Given the description of an element on the screen output the (x, y) to click on. 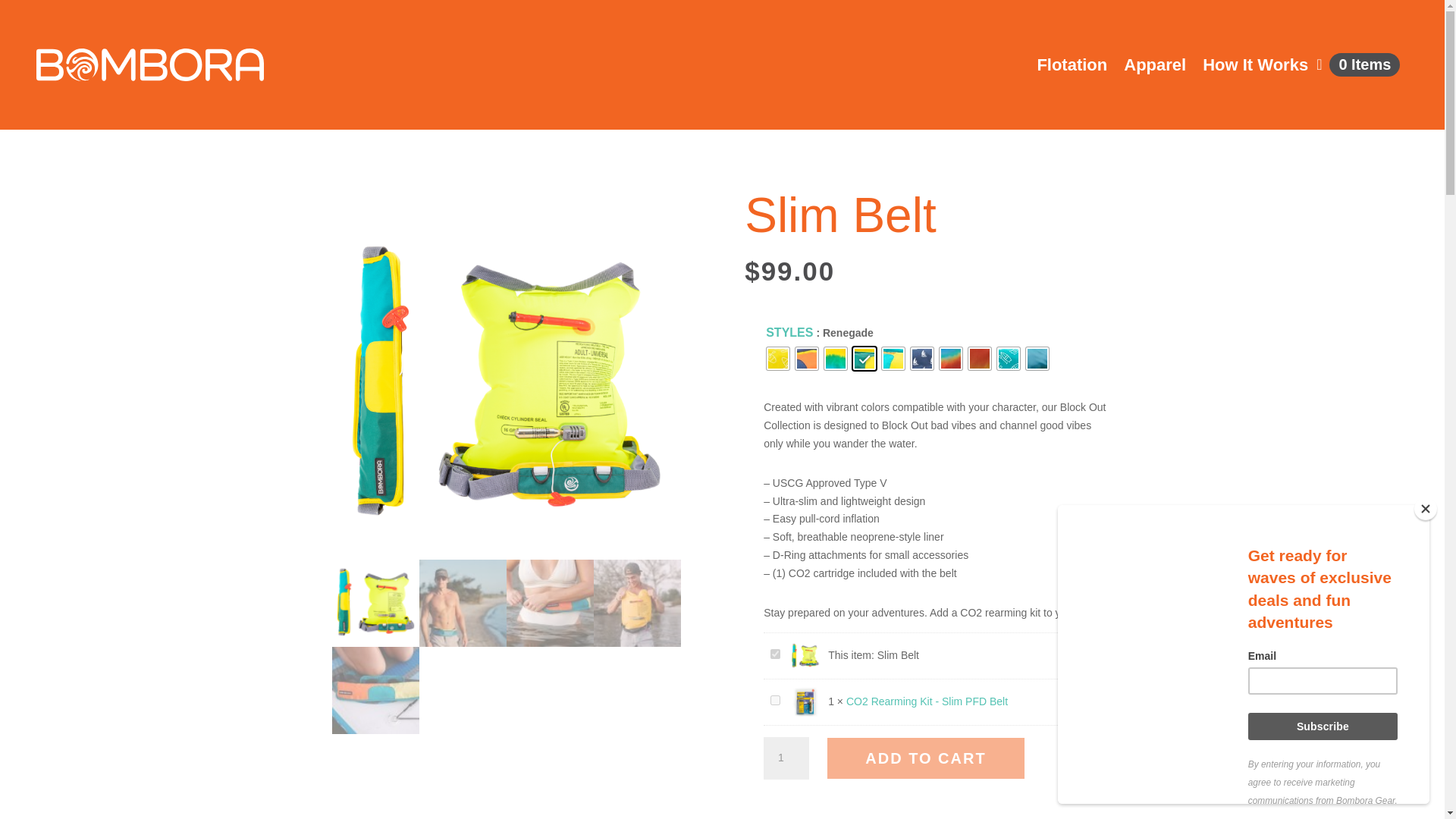
on (775, 654)
Retro (893, 358)
354 (775, 700)
Apparel (1155, 65)
ADD TO CART (925, 757)
Renegade (864, 358)
SUPing (1008, 358)
Sunrise (950, 358)
Rasta (835, 358)
Flotation (1071, 65)
Kayaking (778, 358)
Renegade (506, 383)
How It Works (1254, 65)
0 Items (1357, 65)
Sunset (979, 358)
